Given the description of an element on the screen output the (x, y) to click on. 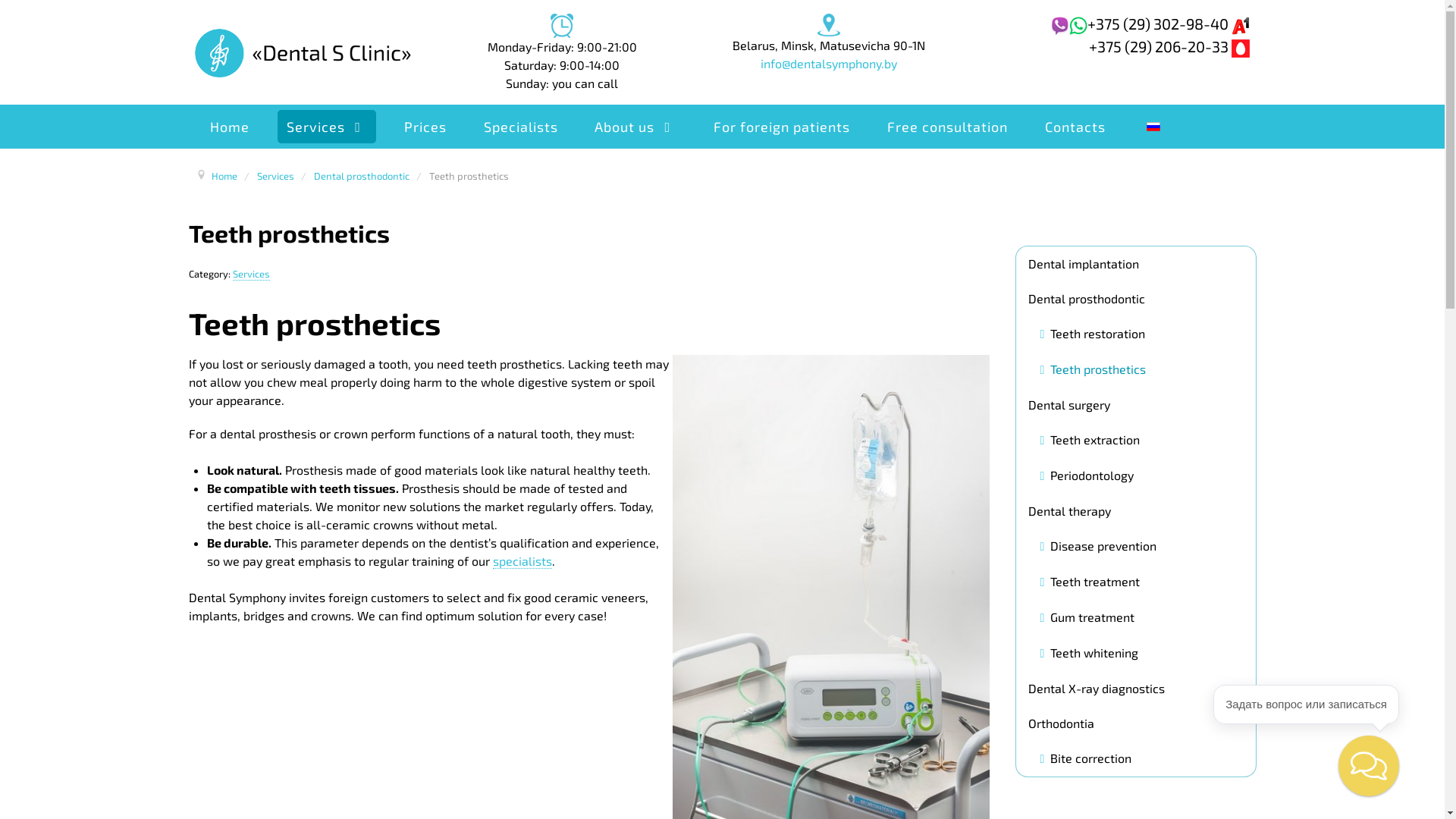
Prices Element type: text (424, 125)
Services Element type: text (250, 272)
Bite correction Element type: text (1086, 757)
Teeth restoration Element type: text (1092, 333)
Specialists Element type: text (520, 125)
About us Element type: text (635, 125)
Teeth prosthetics Element type: text (1093, 369)
Services Element type: text (326, 125)
Orthodontia Element type: text (1135, 722)
Periodontology Element type: text (1087, 475)
Dental surgery Element type: text (1135, 403)
Teeth treatment Element type: text (1090, 581)
Contacts Element type: text (1074, 125)
info@dentalsymphony.by Element type: text (828, 63)
Disease prevention Element type: text (1098, 545)
Services Element type: text (275, 174)
Free consultation Element type: text (947, 125)
+375 (29) 206-20-33 Element type: text (1168, 46)
Teeth whitening Element type: text (1089, 653)
Dental prosthodontic Element type: text (1135, 297)
For foreign patients Element type: text (781, 125)
Dental prosthodontic Element type: text (361, 174)
Gum treatment Element type: text (1087, 616)
Teeth extraction Element type: text (1090, 439)
Dental therapy Element type: text (1135, 509)
specialists Element type: text (522, 560)
+375 (29) 302-98-40 Element type: text (1168, 23)
Dental implantation Element type: text (1135, 262)
Russian Element type: hover (1153, 126)
Home Element type: text (229, 125)
Home Element type: text (224, 174)
Dental X-ray diagnostics Element type: text (1135, 687)
